Given the description of an element on the screen output the (x, y) to click on. 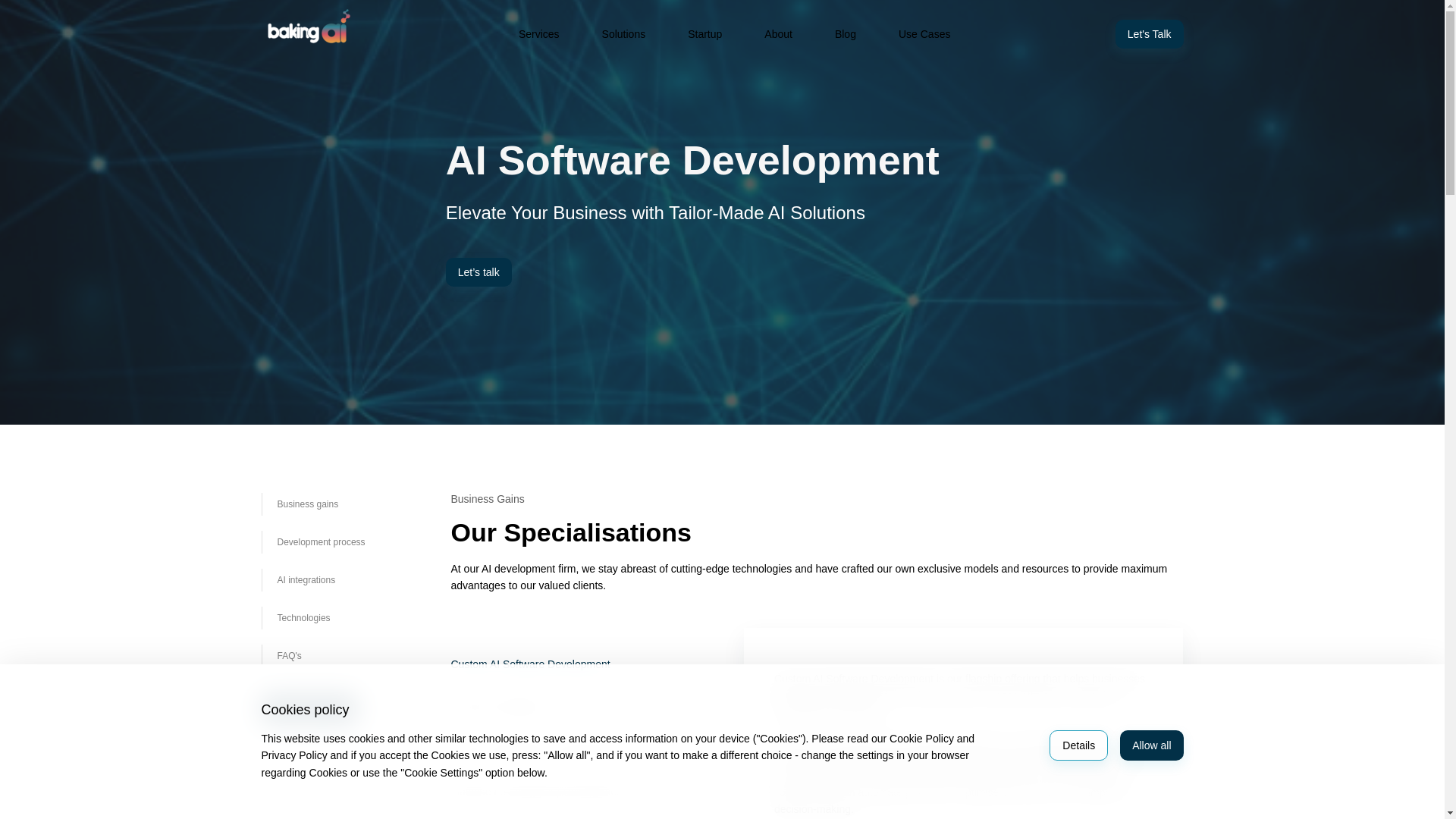
Solutions (623, 33)
Go to homepage (306, 24)
Details (1078, 745)
Cookie Policy (921, 738)
Services (539, 33)
Allow all (1150, 745)
Let's Talk (1149, 33)
Privacy Policy (293, 755)
Startup (704, 33)
Use Cases (924, 33)
